Given the description of an element on the screen output the (x, y) to click on. 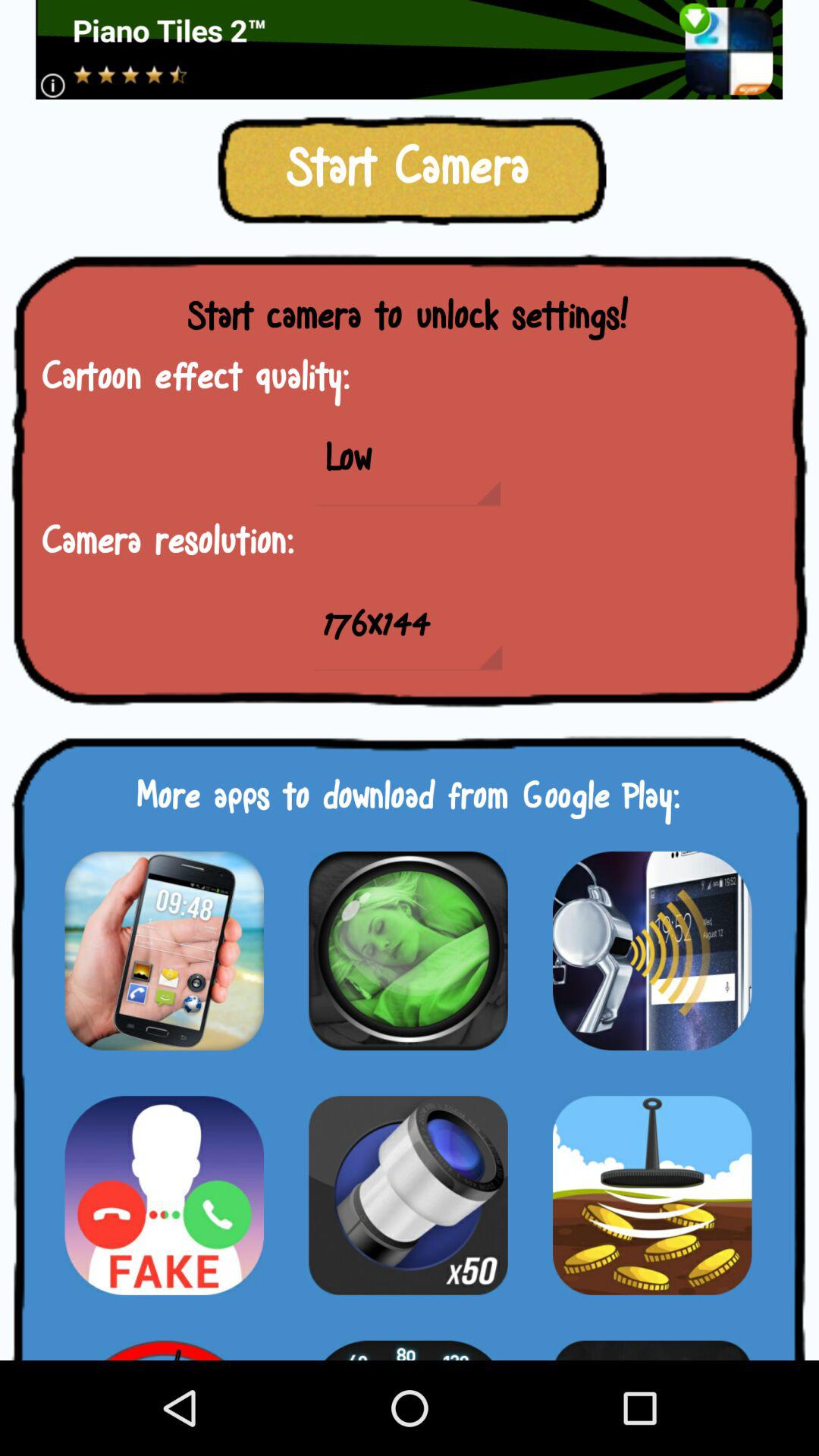
app to download (652, 1340)
